Given the description of an element on the screen output the (x, y) to click on. 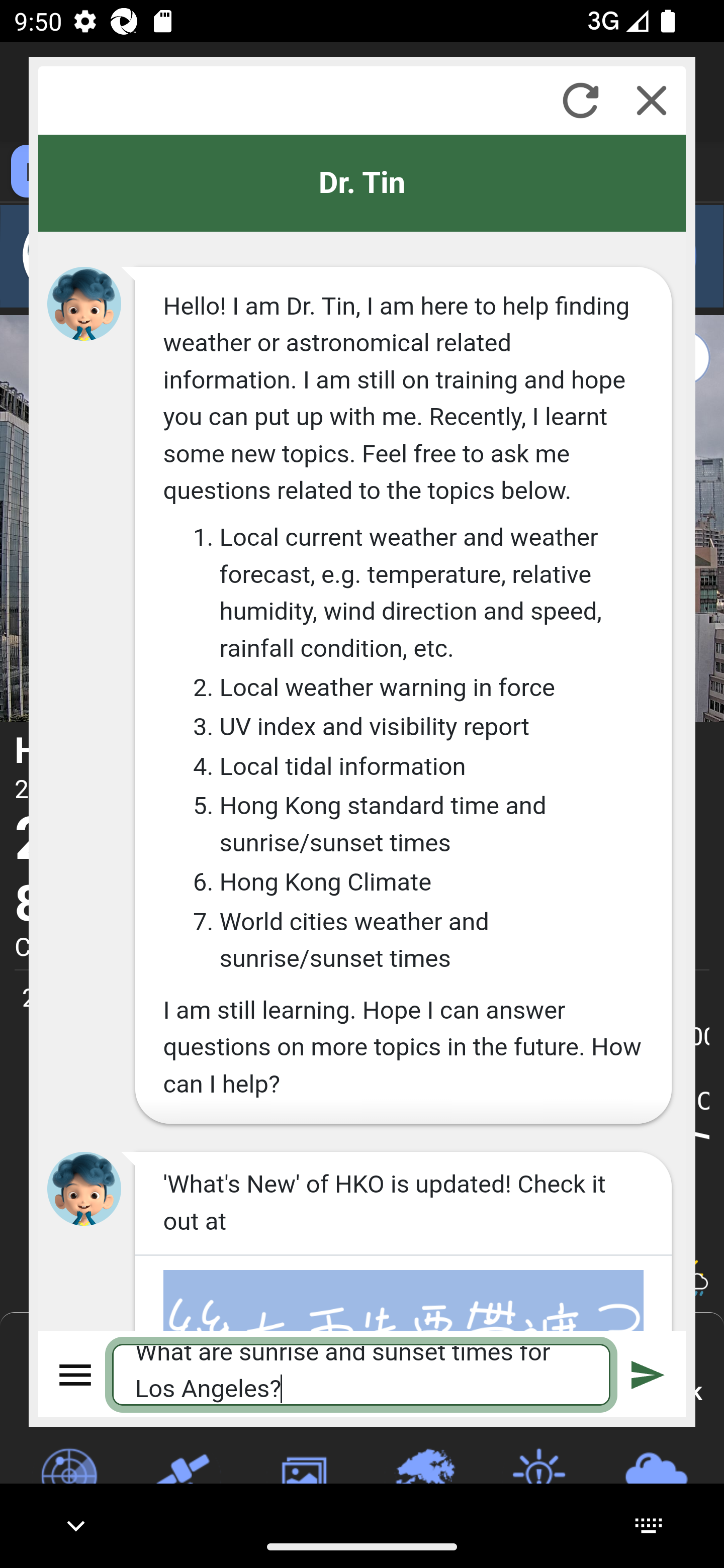
Refresh (580, 100)
Close (651, 100)
Menu (75, 1374)
Submit (648, 1374)
What are sunrise and sunset times for Los Angeles? (361, 1374)
